Given the description of an element on the screen output the (x, y) to click on. 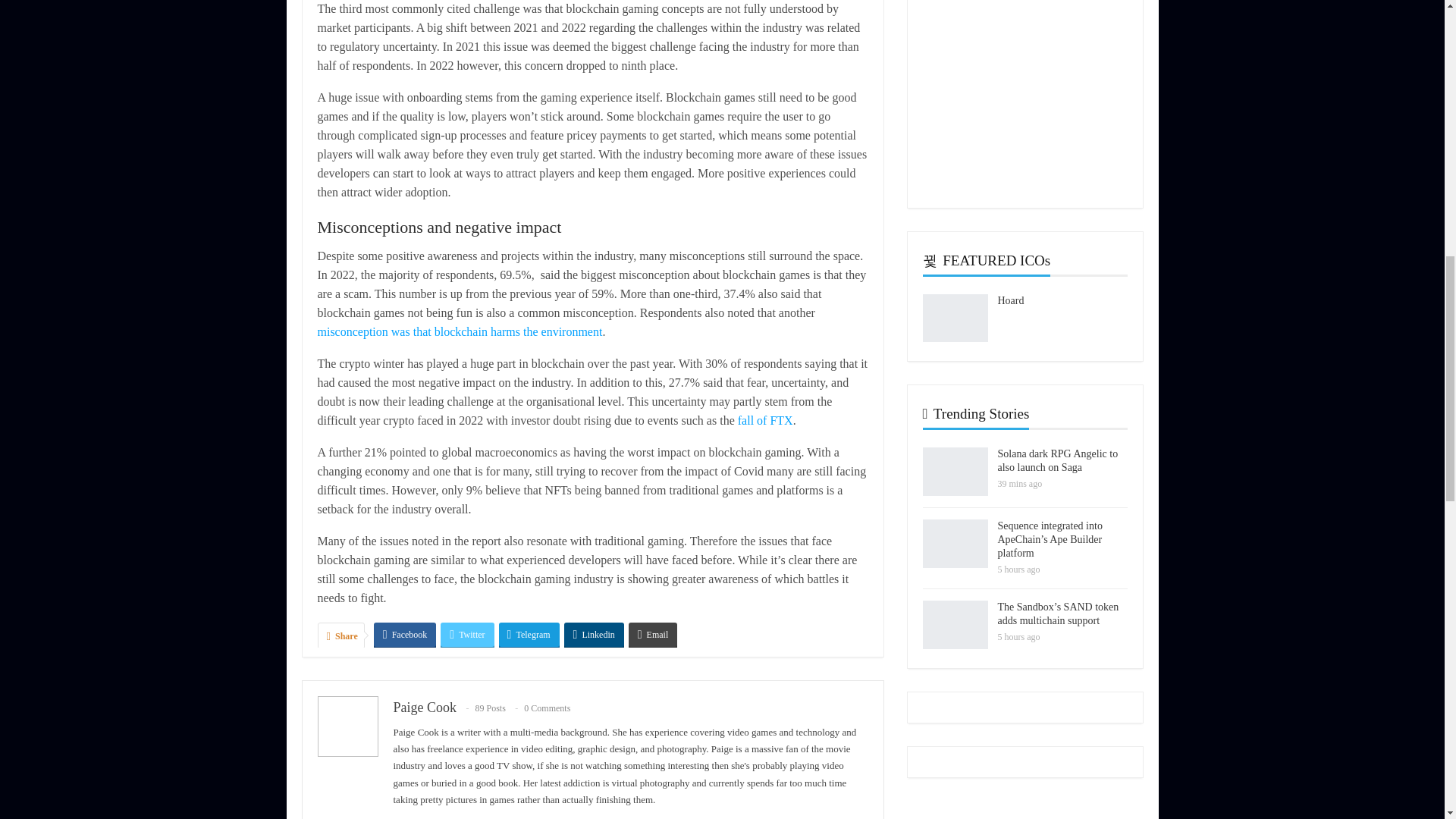
Twitter (467, 634)
Email (653, 634)
Facebook (405, 634)
Solana dark RPG Angelic to also launch on Saga (954, 471)
Linkedin (594, 634)
Paige Cook (425, 707)
misconception was that blockchain harms the environment (459, 331)
fall of FTX (765, 420)
Hoard (954, 318)
Telegram (529, 634)
